Given the description of an element on the screen output the (x, y) to click on. 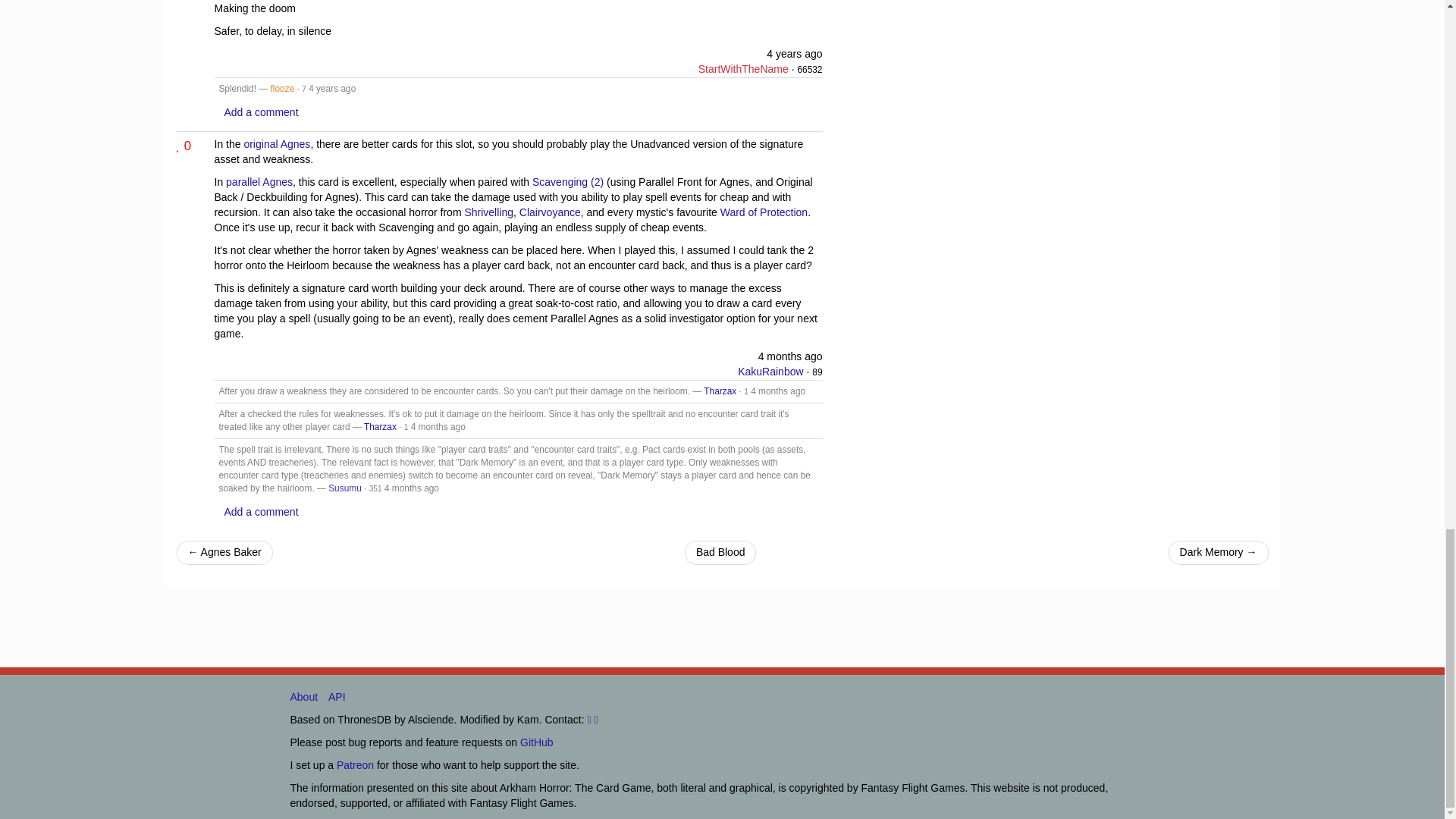
Tuesday, April 2, 2024 12:26 PM (778, 390)
Monday, April 1, 2024 9:04 PM (790, 356)
Sunday, December 27, 2020 8:30 PM (794, 53)
User Reputation (809, 69)
Tuesday, April 2, 2024 1:53 PM (437, 426)
User Reputation (375, 488)
User Reputation (817, 371)
Monday, January 18, 2021 2:24 PM (331, 88)
